Given the description of an element on the screen output the (x, y) to click on. 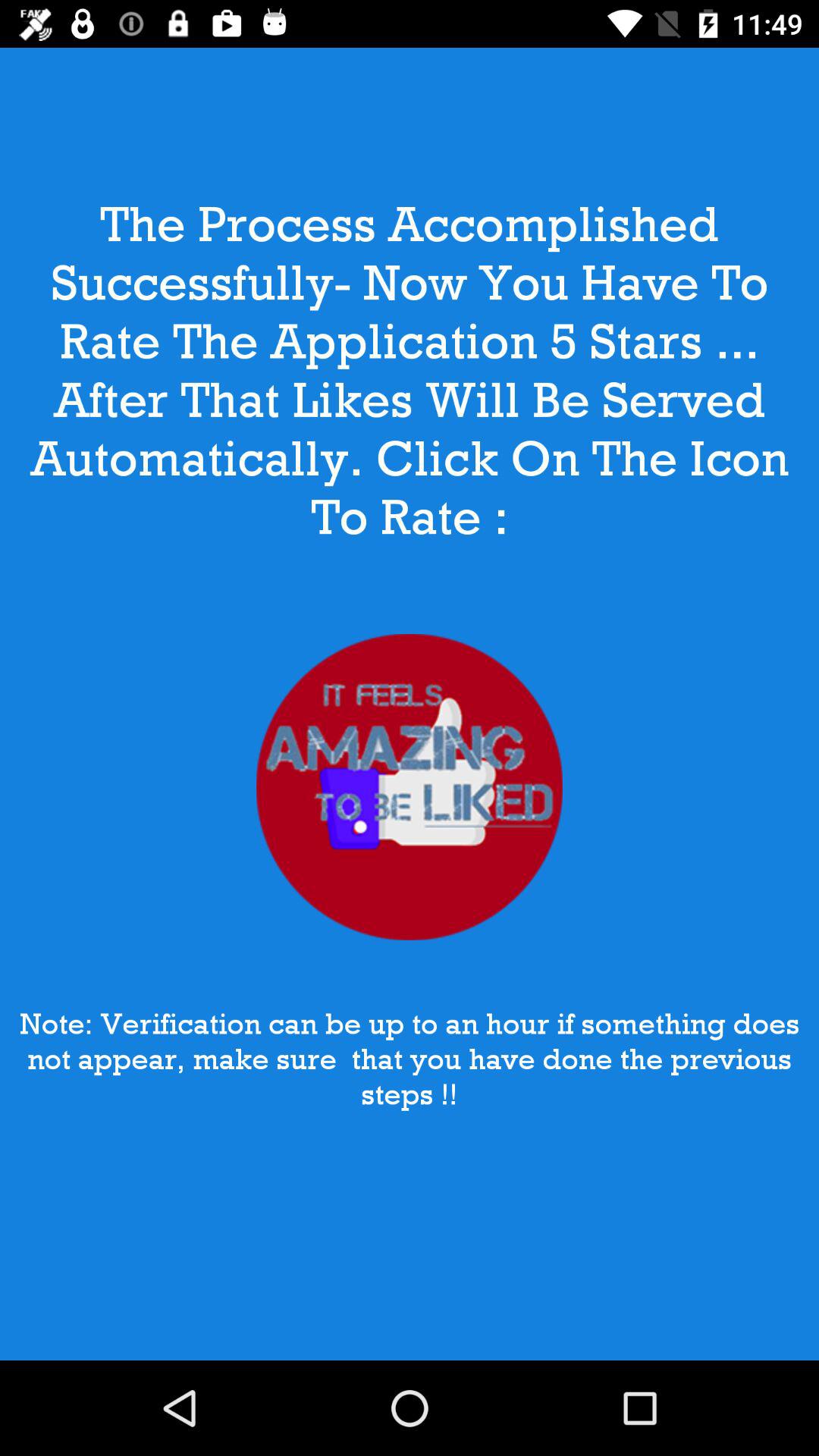
rate icon (409, 787)
